Given the description of an element on the screen output the (x, y) to click on. 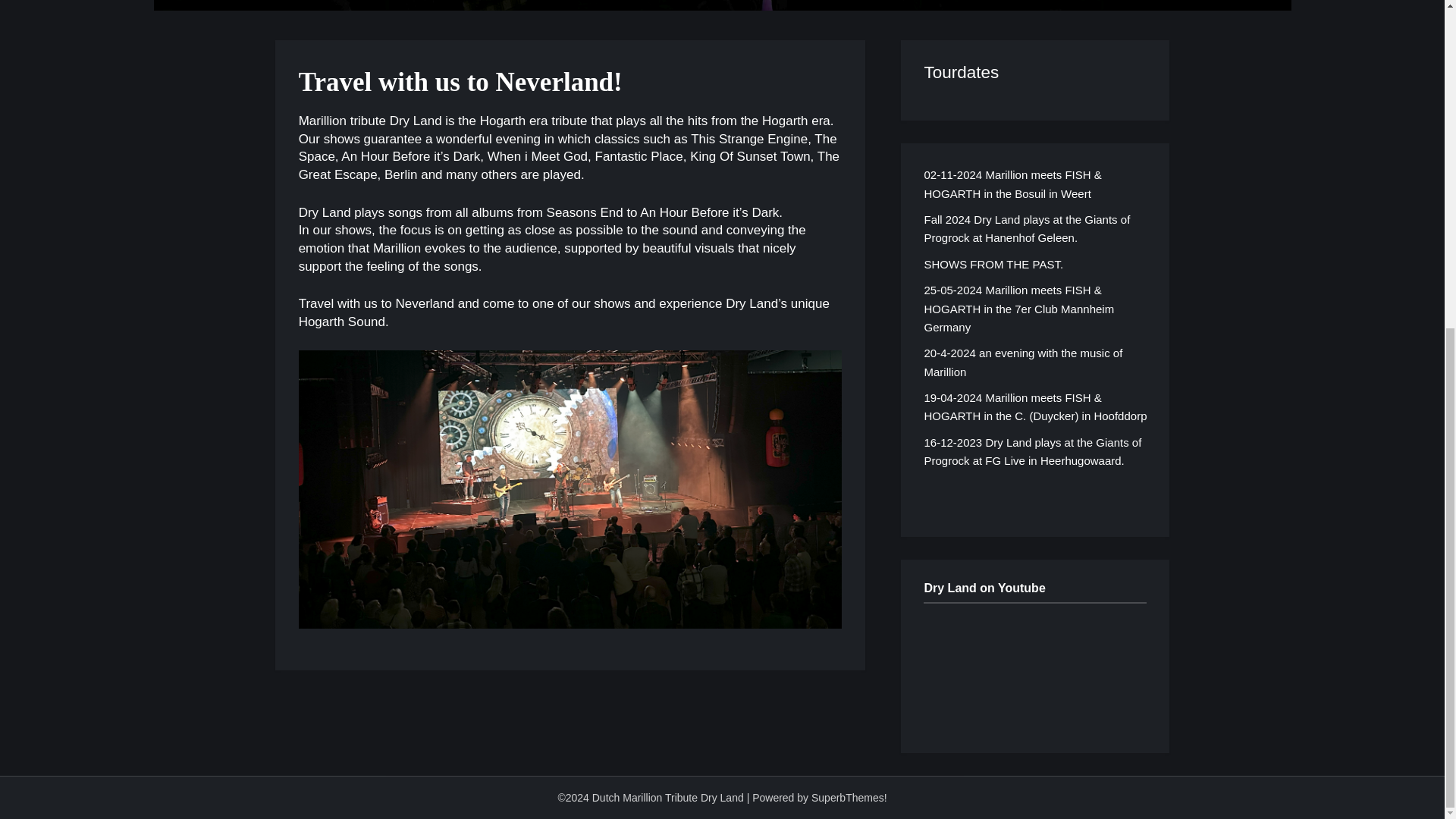
YouTube video player (1035, 667)
SuperbThemes! (848, 797)
SHOWS FROM THE PAST. (992, 264)
20-4-2024 an evening with the music of Marillion (1022, 361)
